Given the description of an element on the screen output the (x, y) to click on. 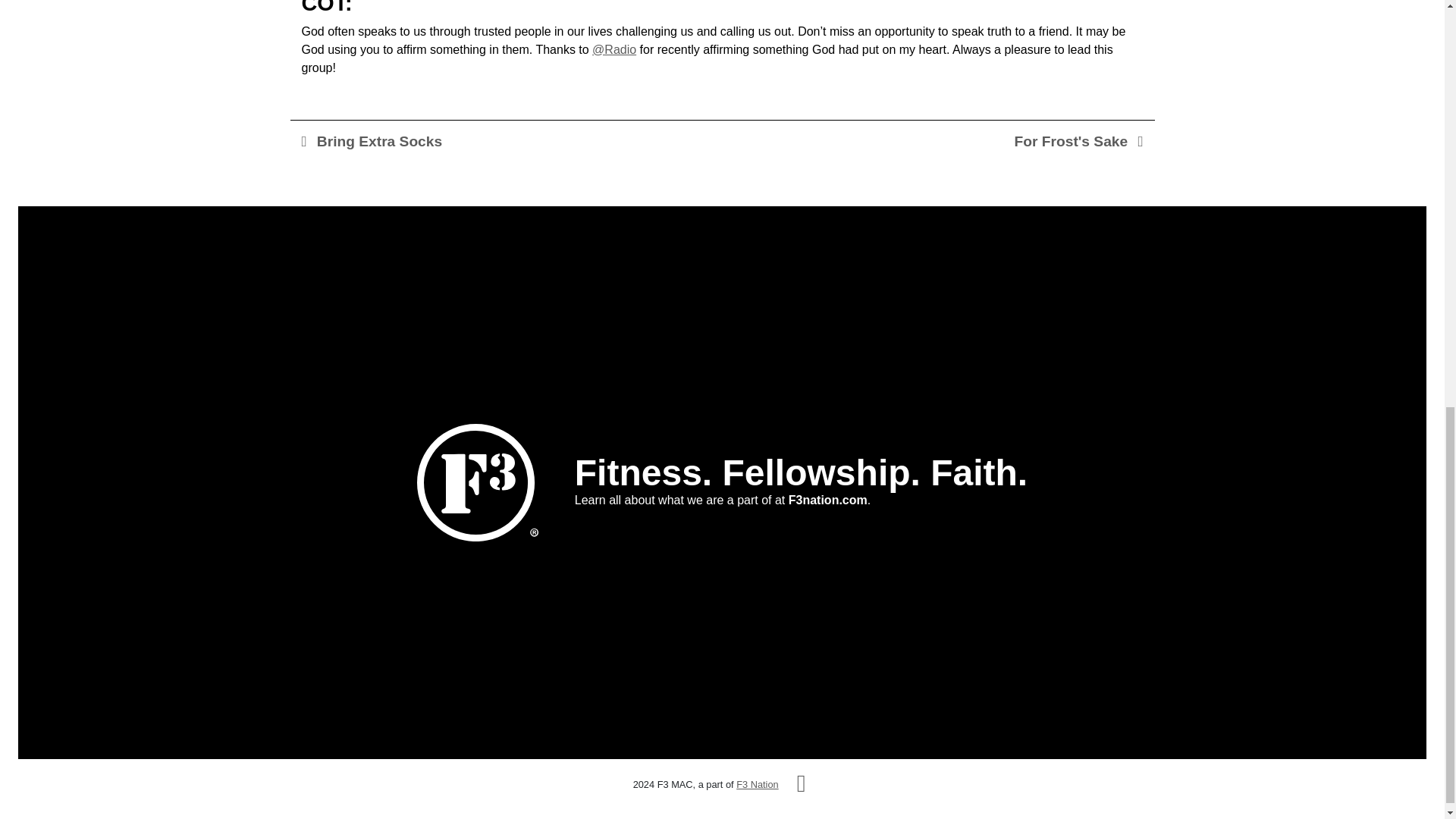
For Frost's Sake (1078, 141)
Bring Extra Socks (371, 141)
Bring Extra Socks (371, 141)
F3 Nation (756, 784)
Twitter (801, 783)
For Frost's Sake (1078, 141)
